Given the description of an element on the screen output the (x, y) to click on. 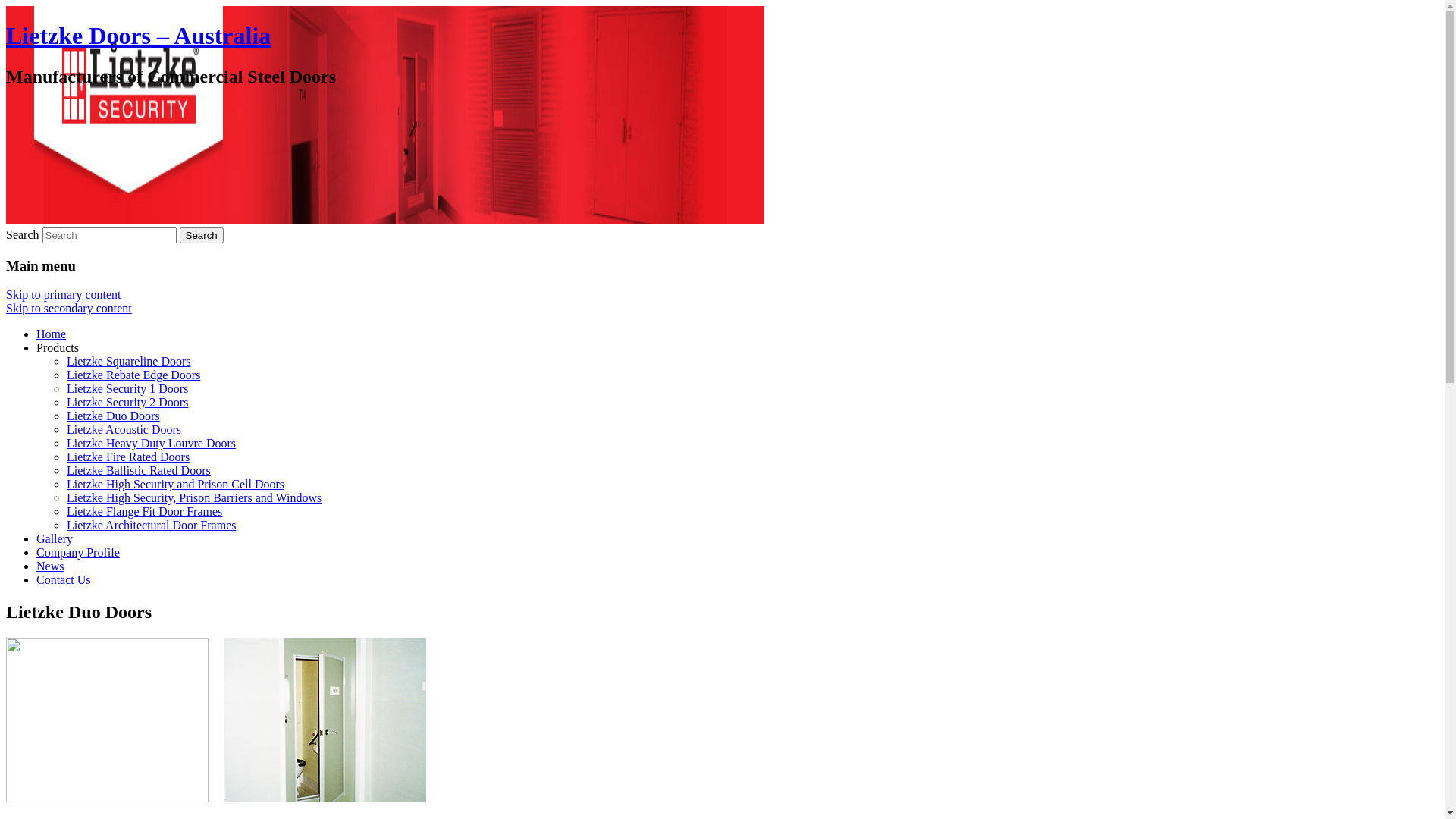
Search Element type: text (201, 235)
duo-doors-1 Element type: hover (107, 719)
Lietzke Acoustic Doors Element type: text (123, 429)
Gallery Element type: text (54, 538)
Lietzke Flange Fit Door Frames Element type: text (144, 511)
Lietzke Ballistic Rated Doors Element type: text (138, 470)
Lietzke Heavy Duty Louvre Doors Element type: text (150, 442)
News Element type: text (49, 565)
Contact Us Element type: text (63, 579)
Lietzke Fire Rated Doors Element type: text (127, 456)
Products Element type: text (57, 347)
Lietzke High Security, Prison Barriers and Windows Element type: text (193, 497)
Lietzke High Security and Prison Cell Doors Element type: text (175, 483)
duo-doors-2 Element type: hover (324, 719)
Lietzke Rebate Edge Doors Element type: text (133, 374)
Lietzke Security 1 Doors Element type: text (127, 388)
Skip to secondary content Element type: text (68, 307)
Company Profile Element type: text (77, 552)
Home Element type: text (50, 333)
Lietzke Duo Doors Element type: text (113, 415)
Lietzke Squareline Doors Element type: text (128, 360)
Skip to primary content Element type: text (63, 294)
Lietzke Architectural Door Frames Element type: text (150, 524)
Lietzke Security 2 Doors Element type: text (127, 401)
